Given the description of an element on the screen output the (x, y) to click on. 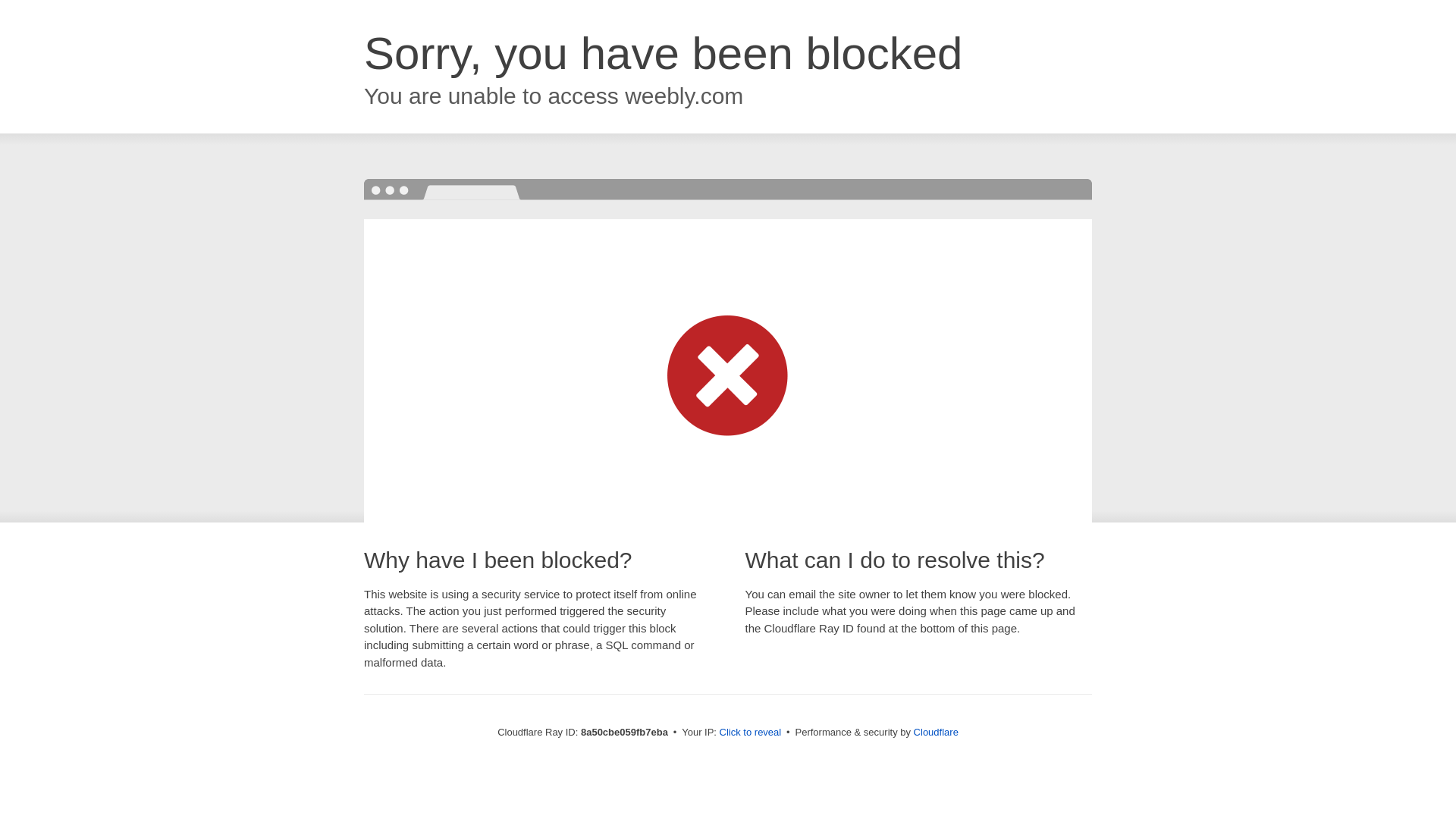
Cloudflare (936, 731)
Click to reveal (750, 732)
